Given the description of an element on the screen output the (x, y) to click on. 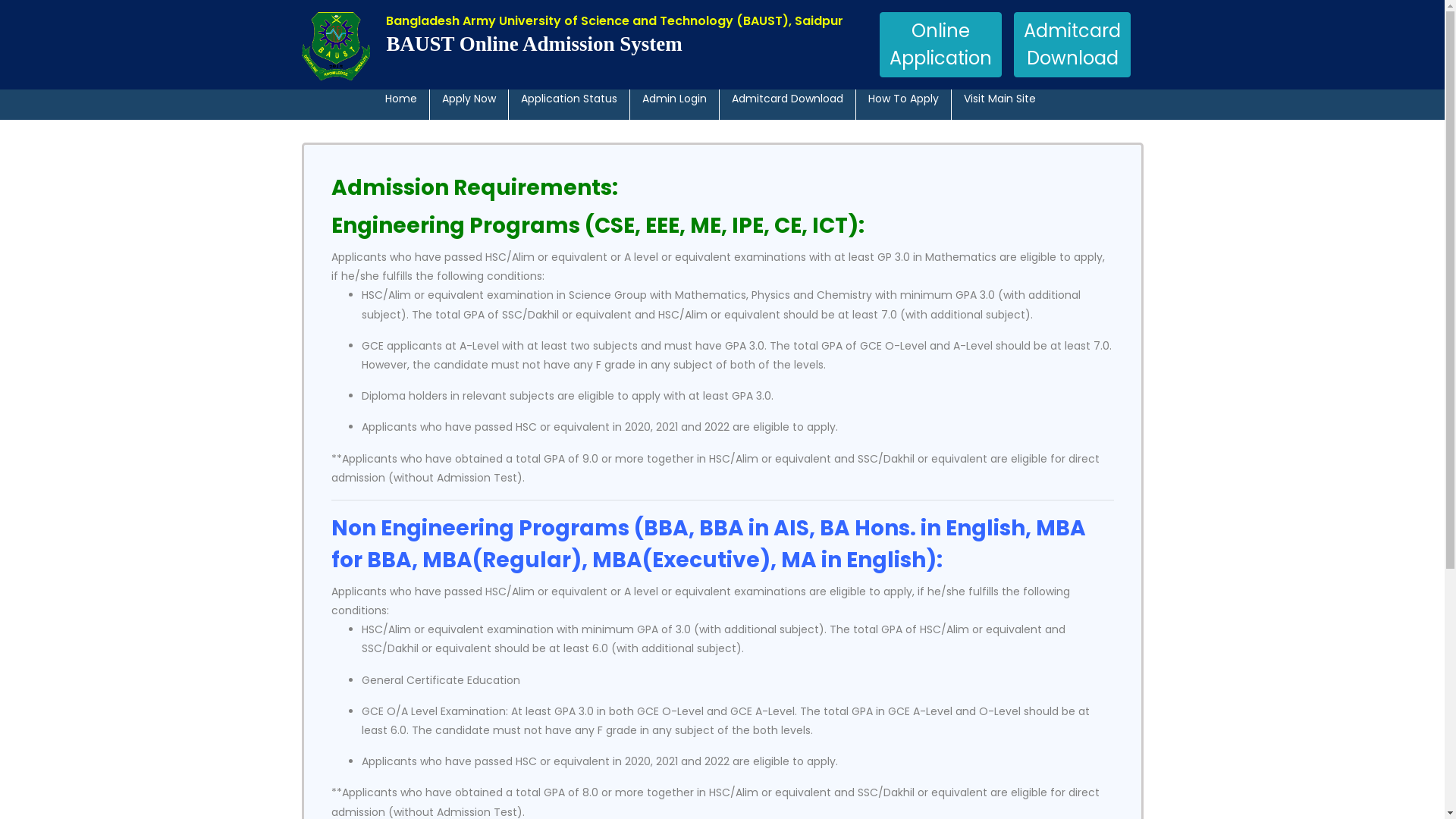
Admitcard Download Element type: text (786, 98)
Admin Login Element type: text (673, 98)
Application Status Element type: text (568, 98)
Online Application Element type: text (940, 44)
Admitcard Download Element type: text (1071, 44)
How To Apply Element type: text (902, 98)
Apply Now Element type: text (468, 98)
Home Element type: text (401, 98)
Visit Main Site Element type: text (999, 98)
